Given the description of an element on the screen output the (x, y) to click on. 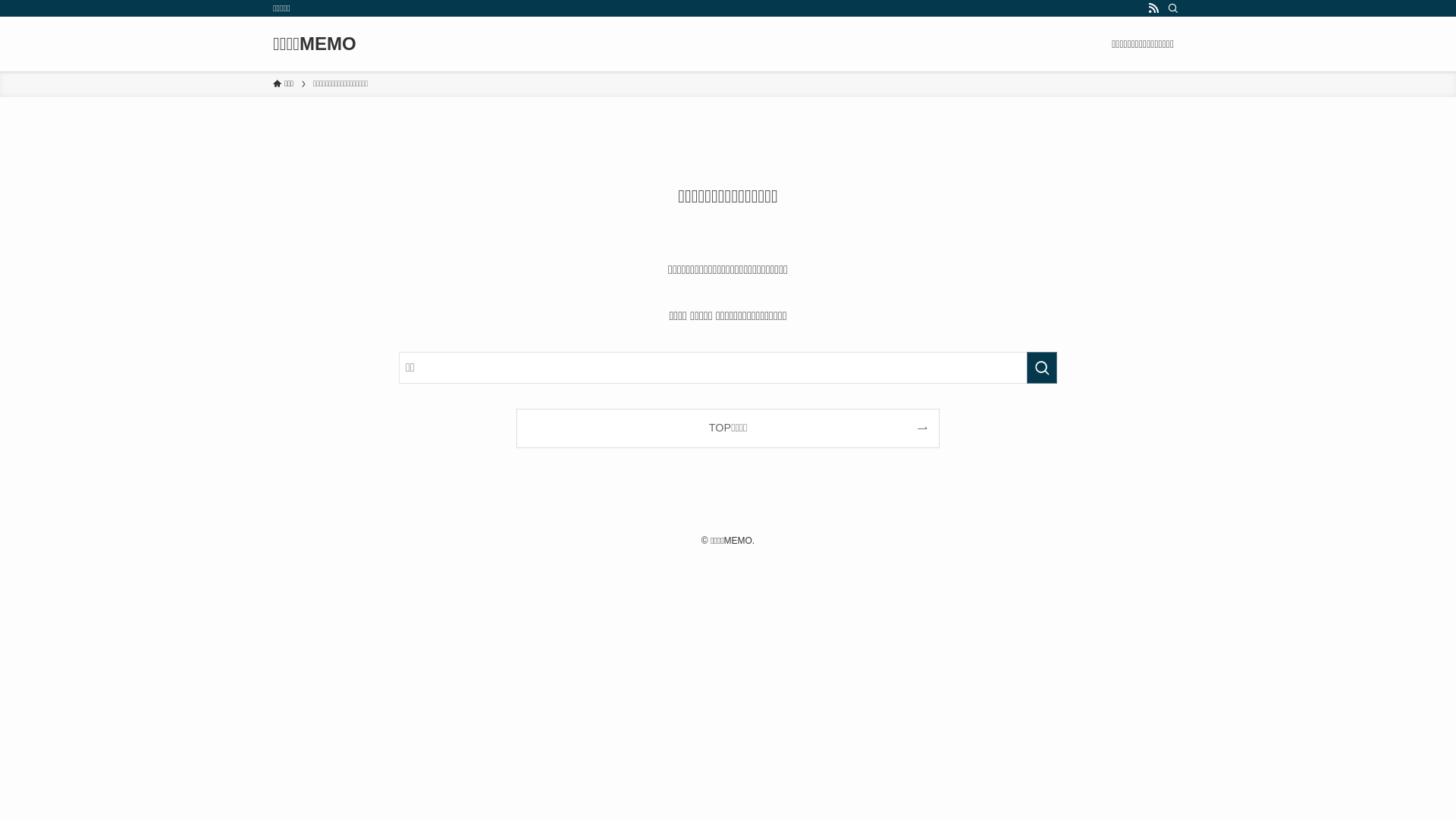
search Element type: text (928, 421)
search Element type: text (1041, 367)
